Given the description of an element on the screen output the (x, y) to click on. 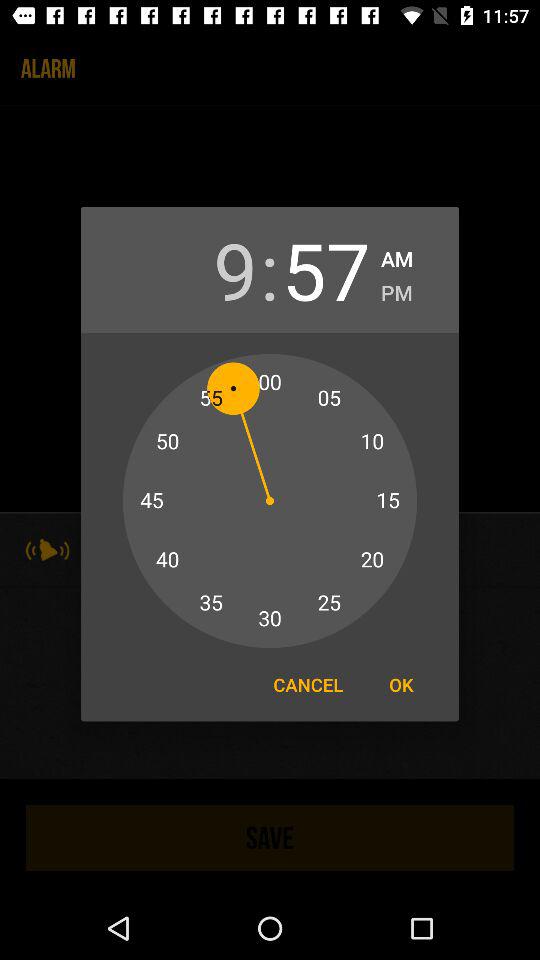
swipe until pm icon (396, 289)
